Given the description of an element on the screen output the (x, y) to click on. 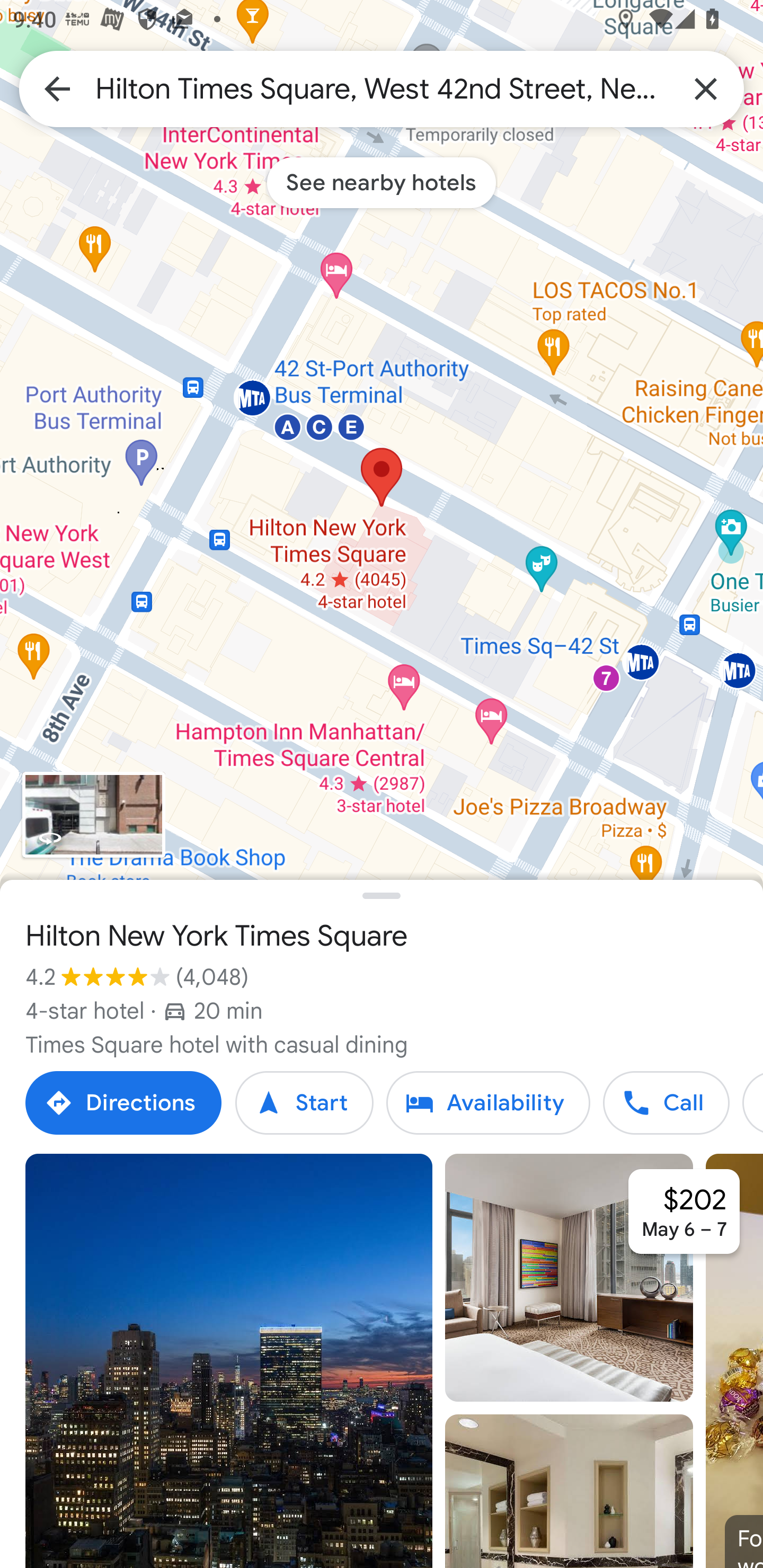
Back (57, 88)
Clear (705, 88)
See nearby hotels (381, 182)
Start Start Start (304, 1102)
Photo (228, 1361)
Photo (568, 1277)
Photo (568, 1491)
